Given the description of an element on the screen output the (x, y) to click on. 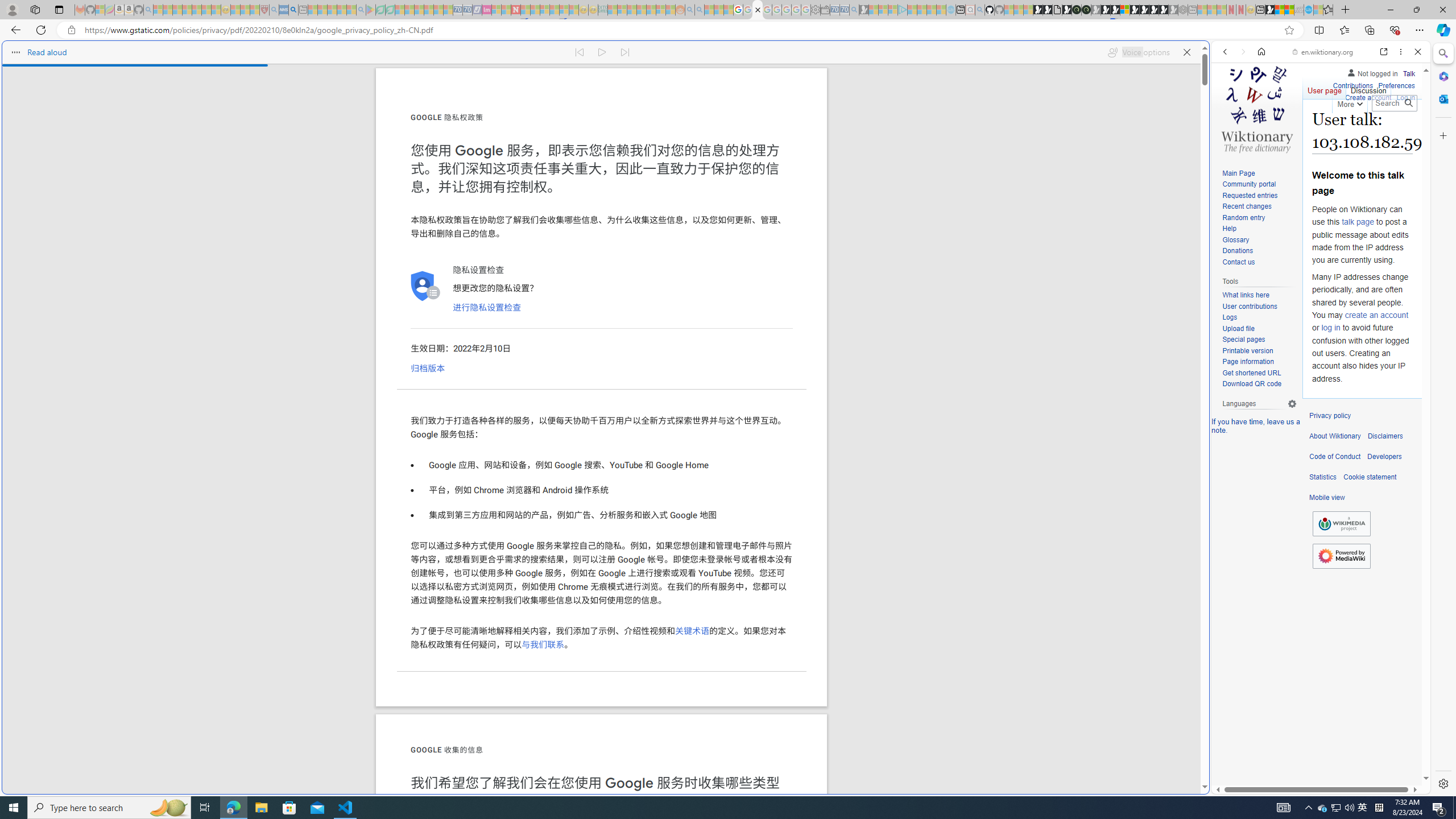
Create account (1367, 96)
Statistics (1322, 477)
Requested entries (1259, 196)
User contributions (1259, 306)
Glossary (1259, 240)
Play Cave FRVR in your browser | Games from Microsoft Start (1105, 9)
Jobs - lastminute.com Investor Portal - Sleeping (486, 9)
Language settings (1292, 403)
google_privacy_policy_zh-CN.pdf (757, 9)
Local - MSN - Sleeping (254, 9)
